Given the description of an element on the screen output the (x, y) to click on. 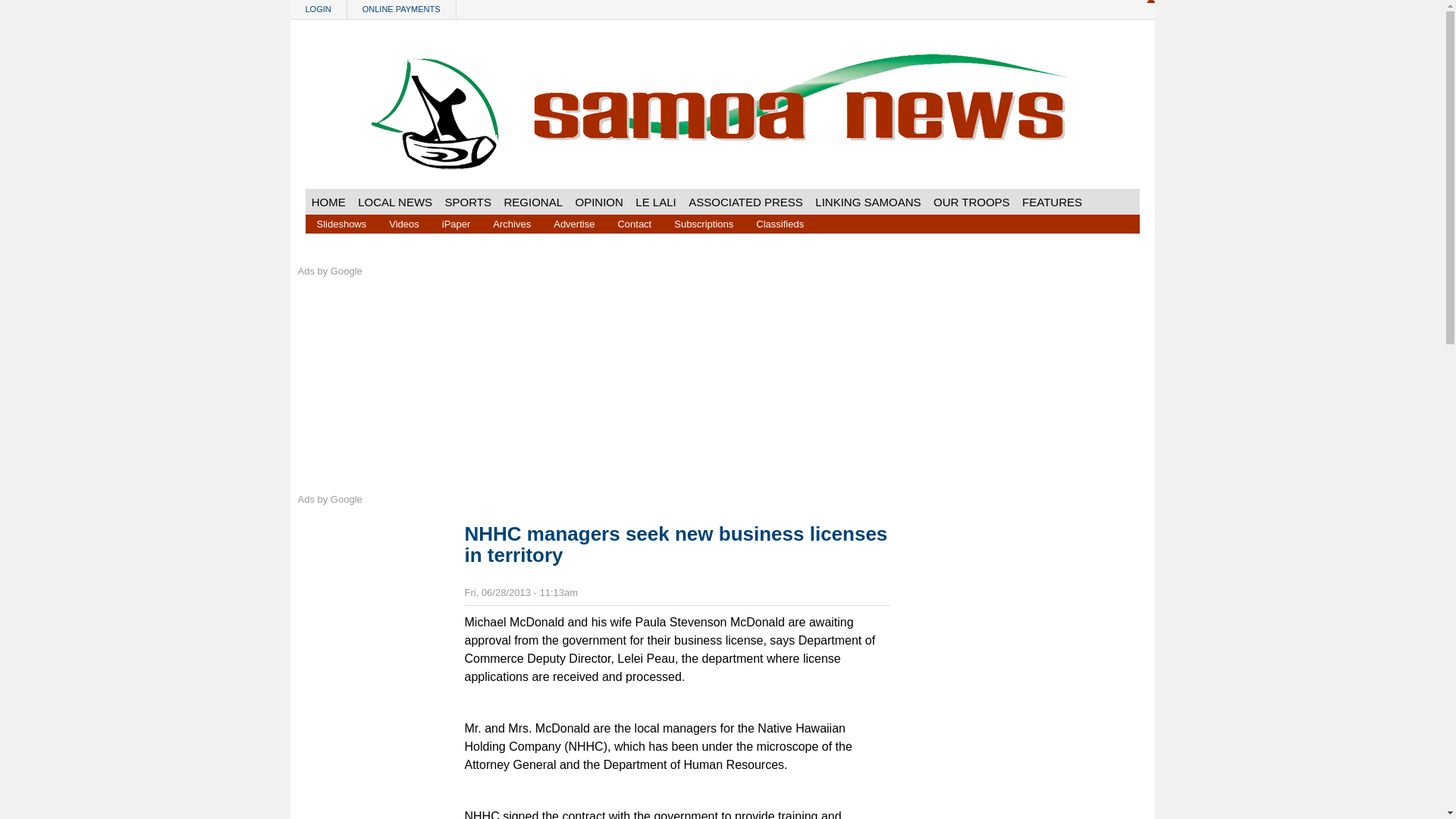
ASSOCIATED PRESS (745, 202)
Classifieds (779, 223)
Advertise (573, 223)
Associated Press (745, 202)
LOCAL NEWS (395, 202)
Local News (395, 202)
iPaper (455, 223)
REGIONAL (533, 202)
FEATURES (1051, 202)
Opinion (598, 202)
